Given the description of an element on the screen output the (x, y) to click on. 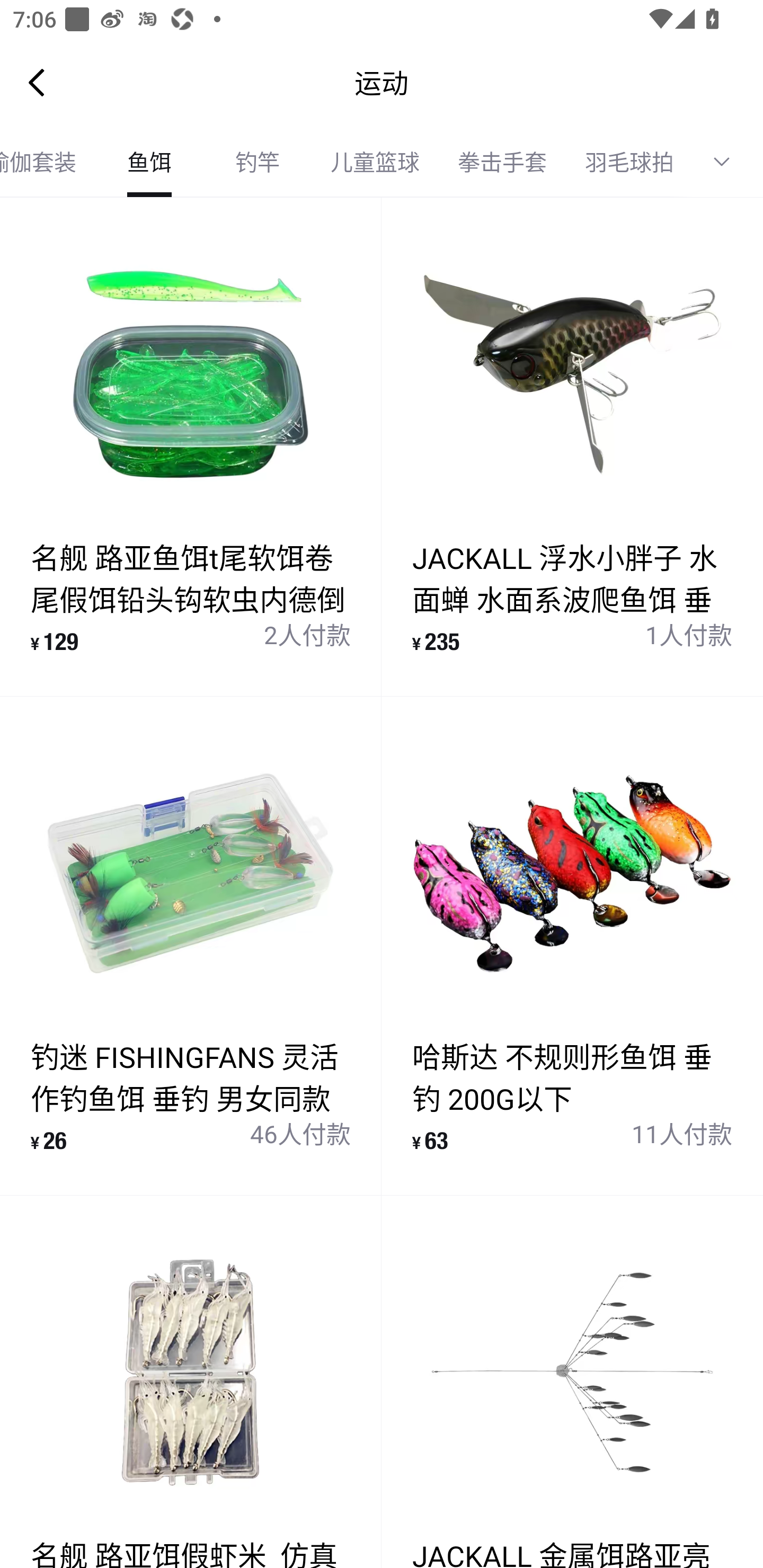
Navigate up (36, 82)
鱼饵 (149, 162)
钓竿 (257, 162)
儿童篮球 (374, 162)
拳击手套 (502, 162)
羽毛球拍 (629, 162)
 (727, 162)
名舰 路亚鱼饵t尾软饵卷
尾假饵铅头钩软虫内德倒
钓淡水鱼鳜鱼翘嘴鱼饵 
垂钓 ¥ 129 2人付款 (190, 446)
JACKALL 浮水小胖子 水
面蝉 水面系波爬鱼饵 垂
钓路亚饵 ¥ 235 1人付款 (572, 446)
钓迷 FISHINGFANS 灵活
作钓鱼饵 垂钓 男女同款 
绿色 透明色 ¥ 26 46人付款 (190, 945)
哈斯达 不规则形鱼饵 垂
钓 200G以下 ¥ 63 11人付款 (572, 945)
名舰 路亚饵假虾米  仿真
虾 假虾假饵4.5cm鱼饵 
小草虾 路亚虾软饵路亚
虾 垂钓 (190, 1381)
JACKALL 金属饵路亚亮
片状钓组鱼饵 垂钓 (572, 1381)
